Given the description of an element on the screen output the (x, y) to click on. 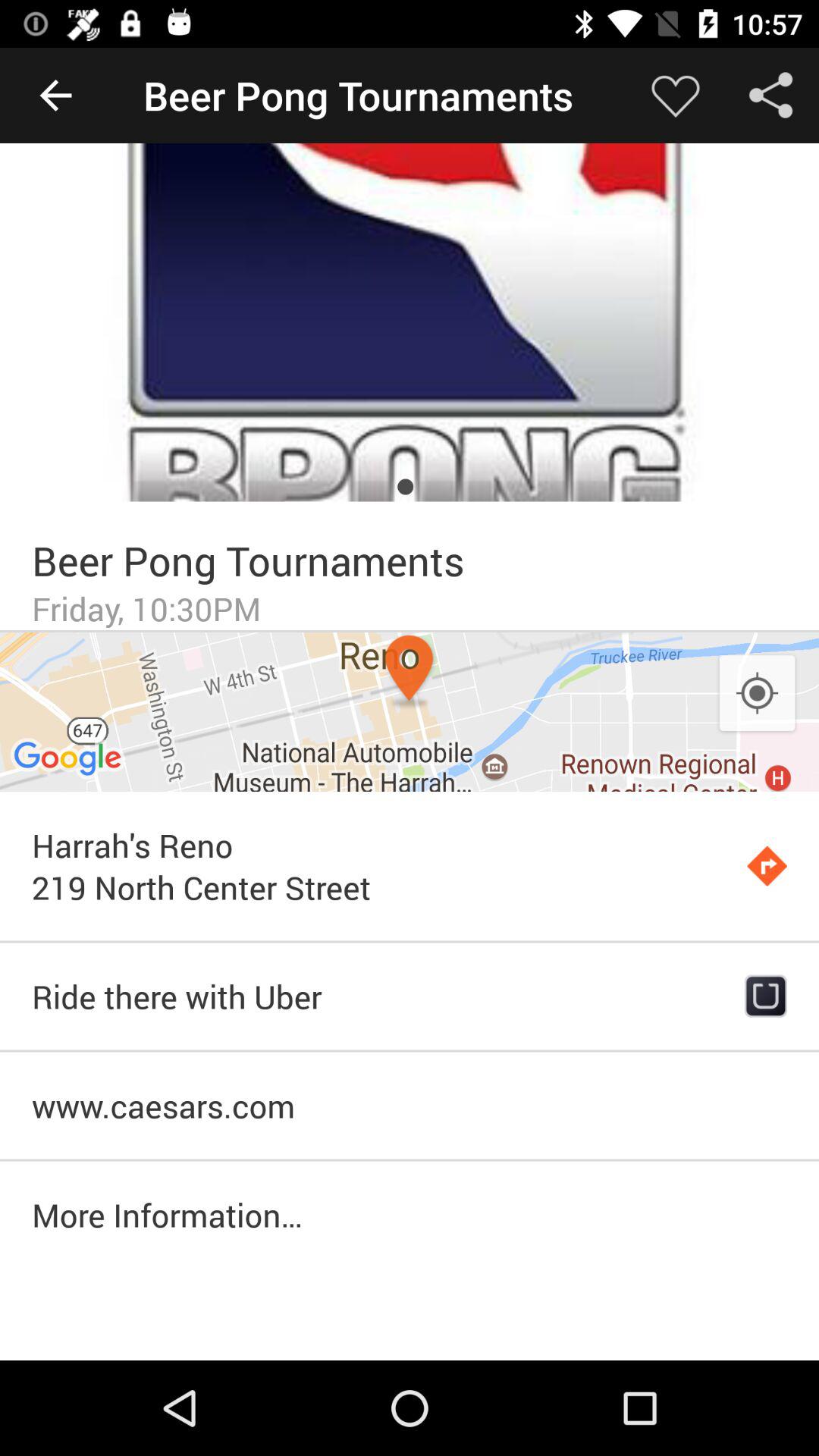
jump to the www.caesars.com icon (409, 1105)
